Given the description of an element on the screen output the (x, y) to click on. 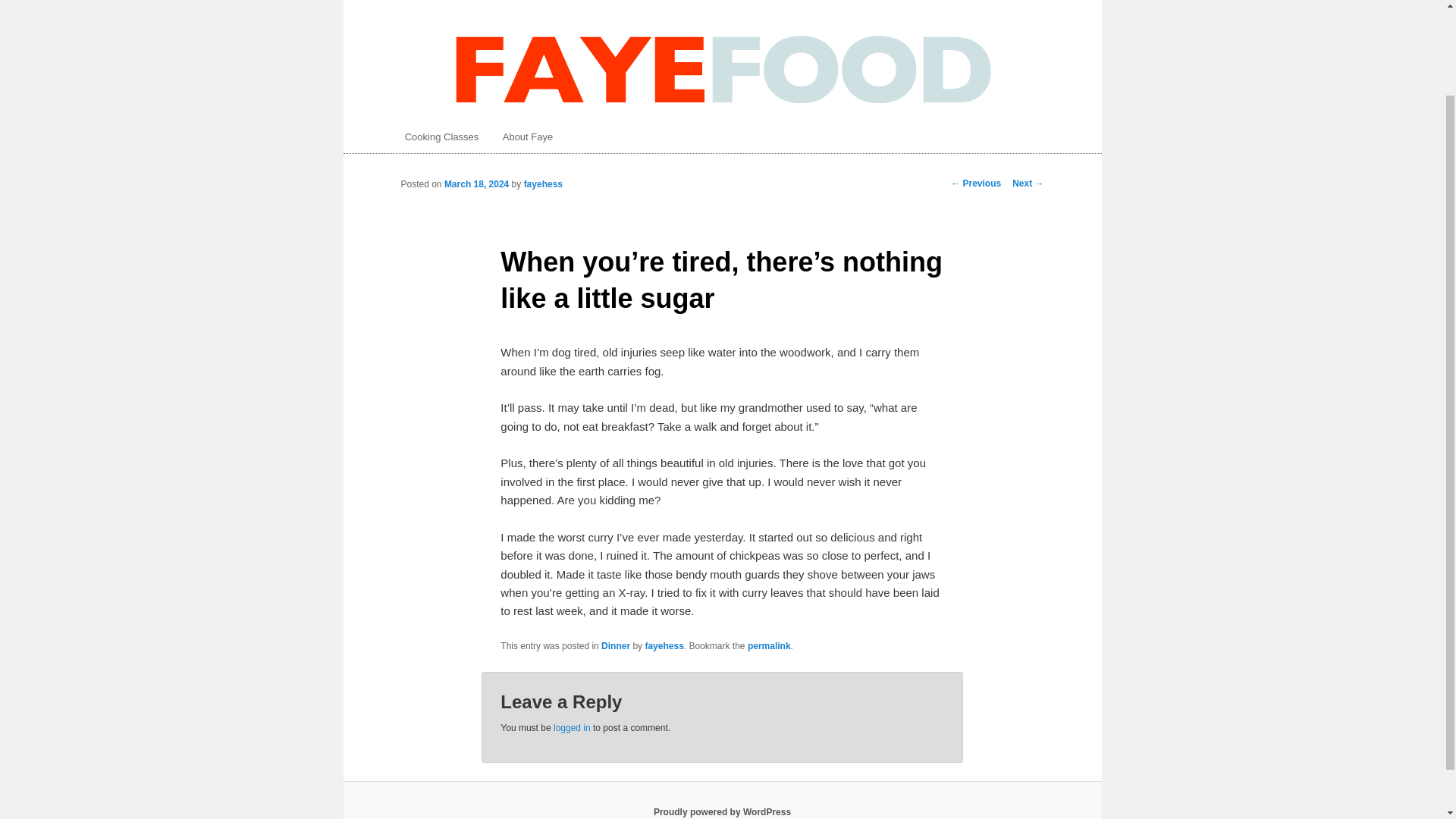
11:04 am (476, 184)
fayehess (543, 184)
permalink (769, 645)
Proudly powered by WordPress (721, 811)
fayehess (663, 645)
Cooking Classes (441, 136)
About Faye (527, 136)
Dinner (615, 645)
View all posts by fayehess (543, 184)
logged in (572, 727)
March 18, 2024 (476, 184)
Semantic Personal Publishing Platform (721, 811)
